Given the description of an element on the screen output the (x, y) to click on. 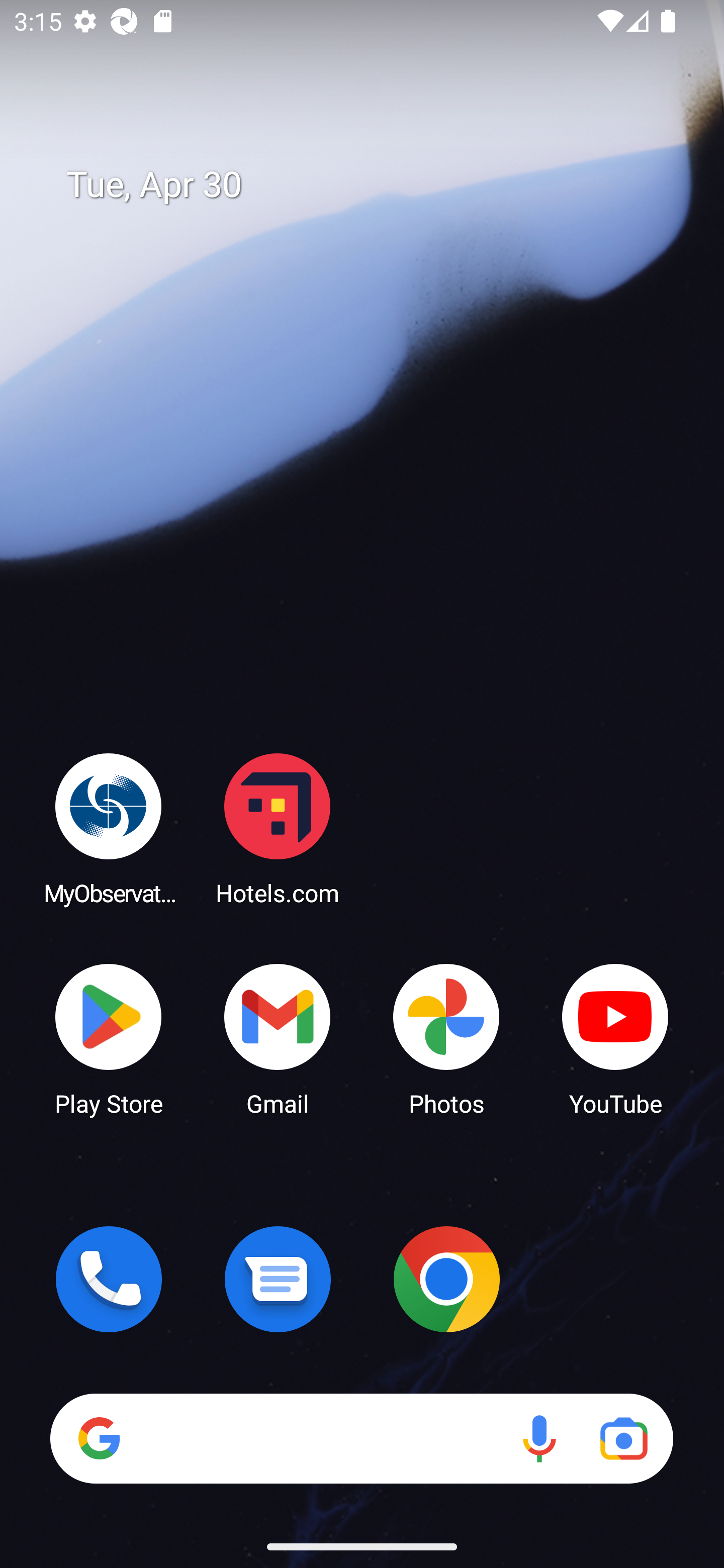
Tue, Apr 30 (375, 184)
MyObservatory (108, 828)
Hotels.com (277, 828)
Play Store (108, 1038)
Gmail (277, 1038)
Photos (445, 1038)
YouTube (615, 1038)
Phone (108, 1279)
Messages (277, 1279)
Chrome (446, 1279)
Voice search (539, 1438)
Google Lens (623, 1438)
